Given the description of an element on the screen output the (x, y) to click on. 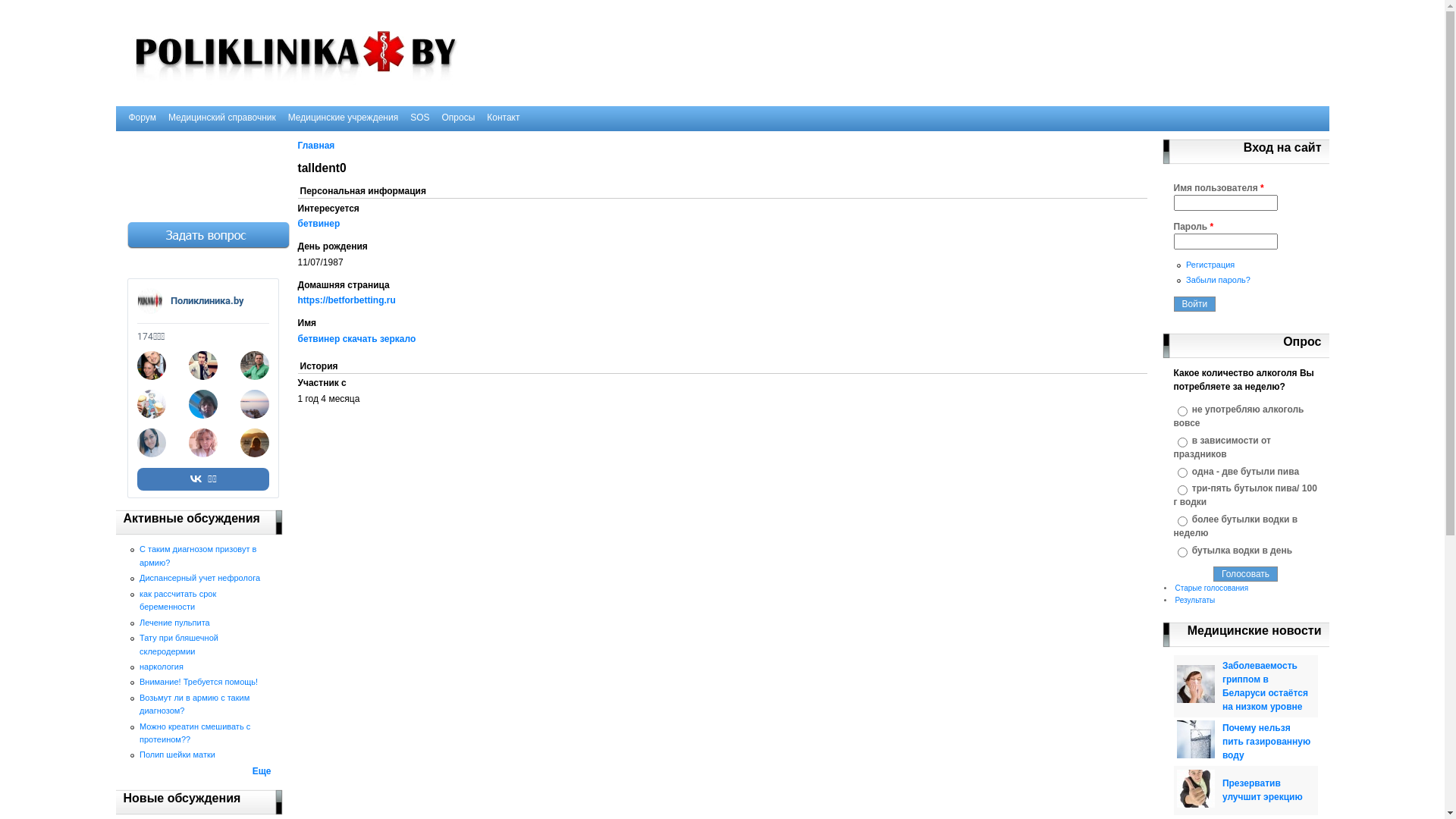
https://betforbetting.ru Element type: text (346, 299)
gazirovka0 Element type: hover (1195, 739)
schastliviy-muzhik Element type: hover (1195, 788)
SOS Element type: text (419, 117)
Advertisement Element type: hover (198, 165)
prostuda Element type: hover (1195, 683)
